Given the description of an element on the screen output the (x, y) to click on. 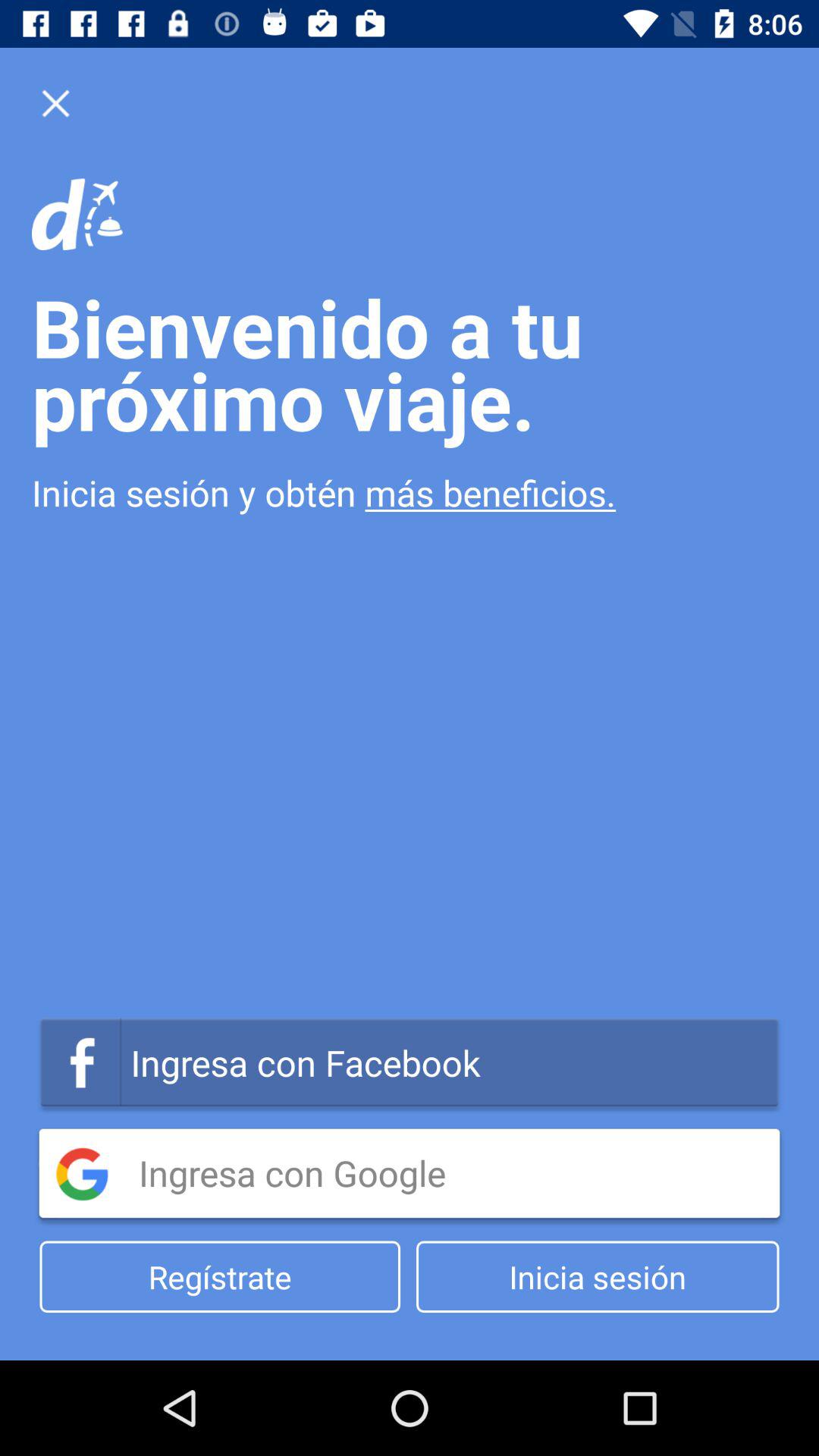
open the item above ingresa con facebook (409, 492)
